Given the description of an element on the screen output the (x, y) to click on. 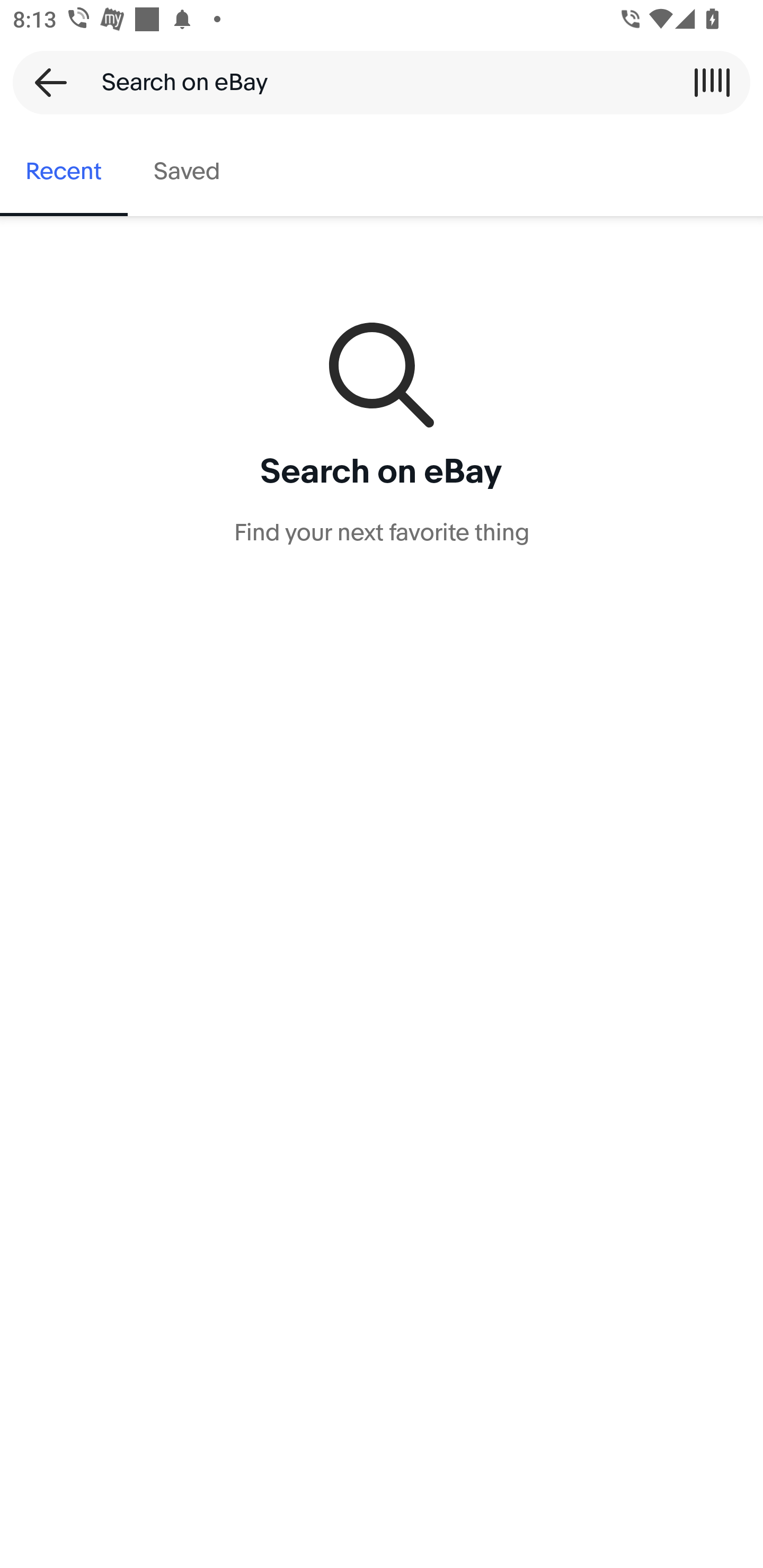
Back (44, 82)
Scan a barcode (711, 82)
Search on eBay (375, 82)
Saved, tab 2 of 2 Saved (186, 171)
